Given the description of an element on the screen output the (x, y) to click on. 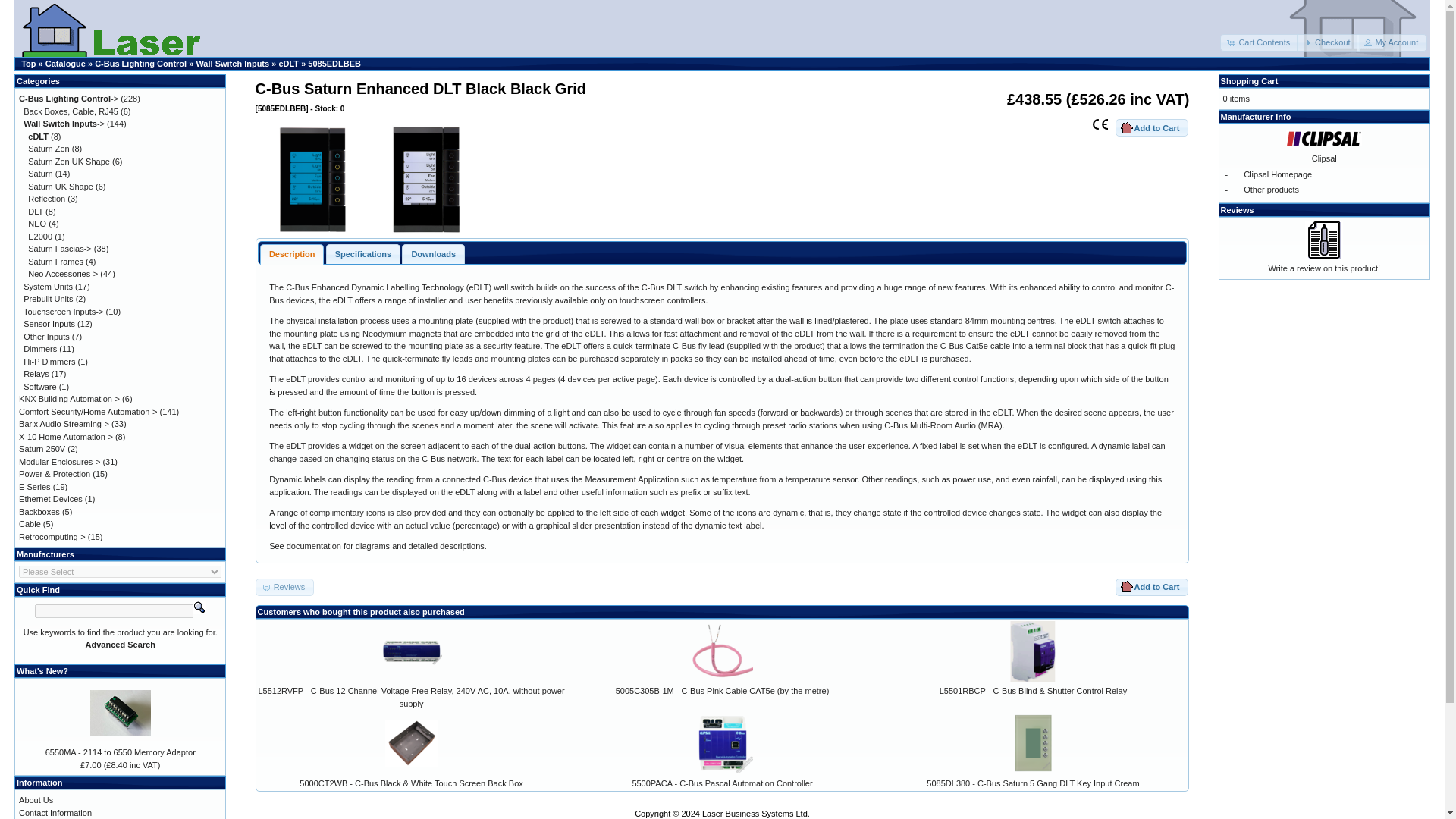
5085EDLBEB (334, 62)
eDLT (37, 135)
6550MA - 2114 to 6550 Memory Adaptor (120, 712)
 Quick Find  (199, 606)
Catalogue (65, 62)
Cart Contents (1259, 42)
Laser Business Systems Ltd. (147, 41)
Specifications (363, 253)
Downloads (433, 253)
Description (291, 253)
C-Bus Lighting Control (140, 62)
Write Review (1323, 240)
5500PACA - C-Bus Pascal Automation Controller (721, 742)
Add to Cart (1151, 587)
5085DL380 - C-Bus Saturn 5 Gang DLT Key Input Cream (1032, 742)
